Given the description of an element on the screen output the (x, y) to click on. 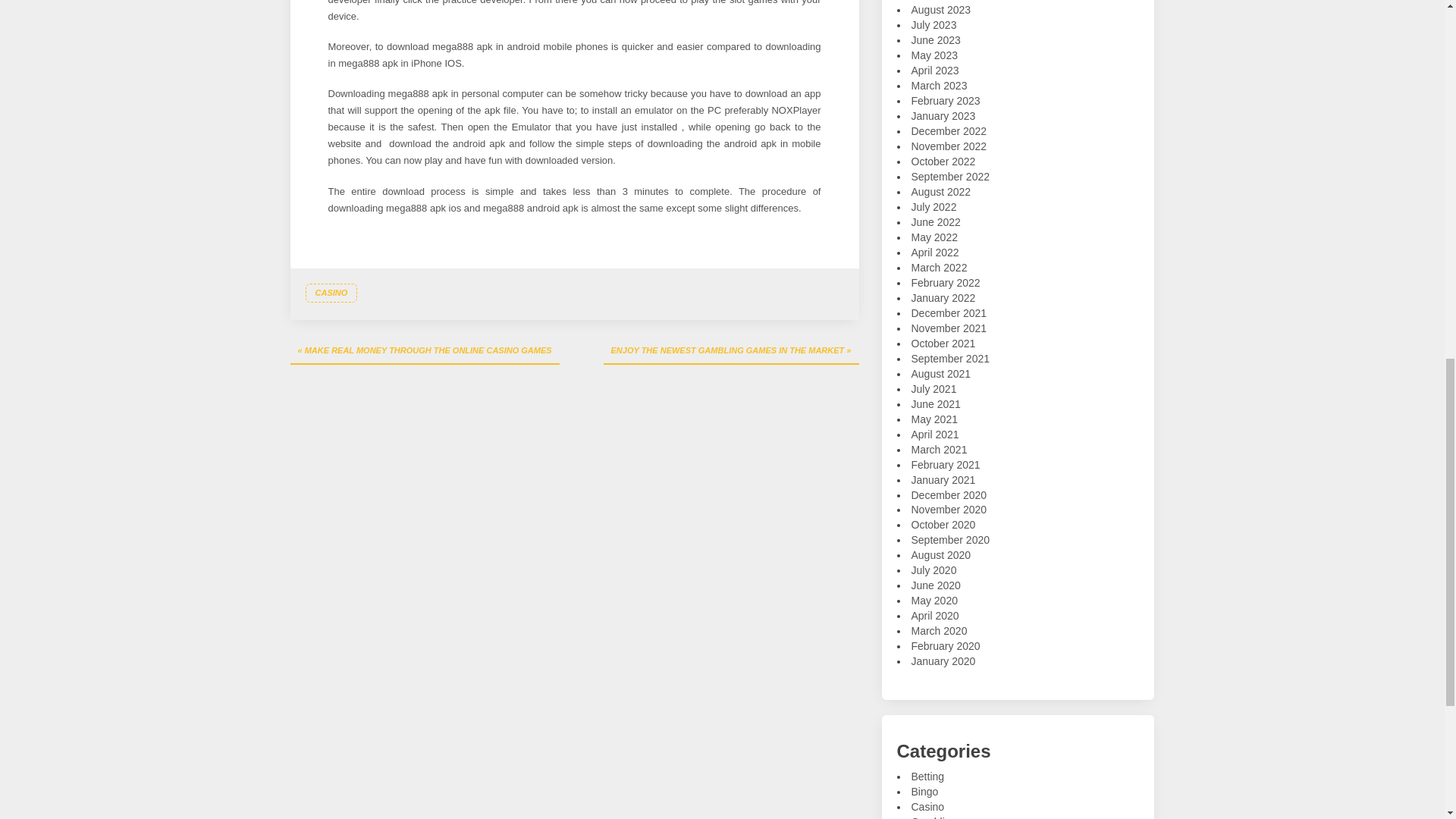
October 2023 (943, 0)
CASINO (330, 293)
April 2023 (935, 70)
June 2023 (935, 39)
February 2023 (945, 101)
March 2023 (939, 85)
July 2023 (933, 24)
MAKE REAL MONEY THROUGH THE ONLINE CASINO GAMES (424, 351)
August 2023 (941, 9)
ENJOY THE NEWEST GAMBLING GAMES IN THE MARKET (731, 351)
